Given the description of an element on the screen output the (x, y) to click on. 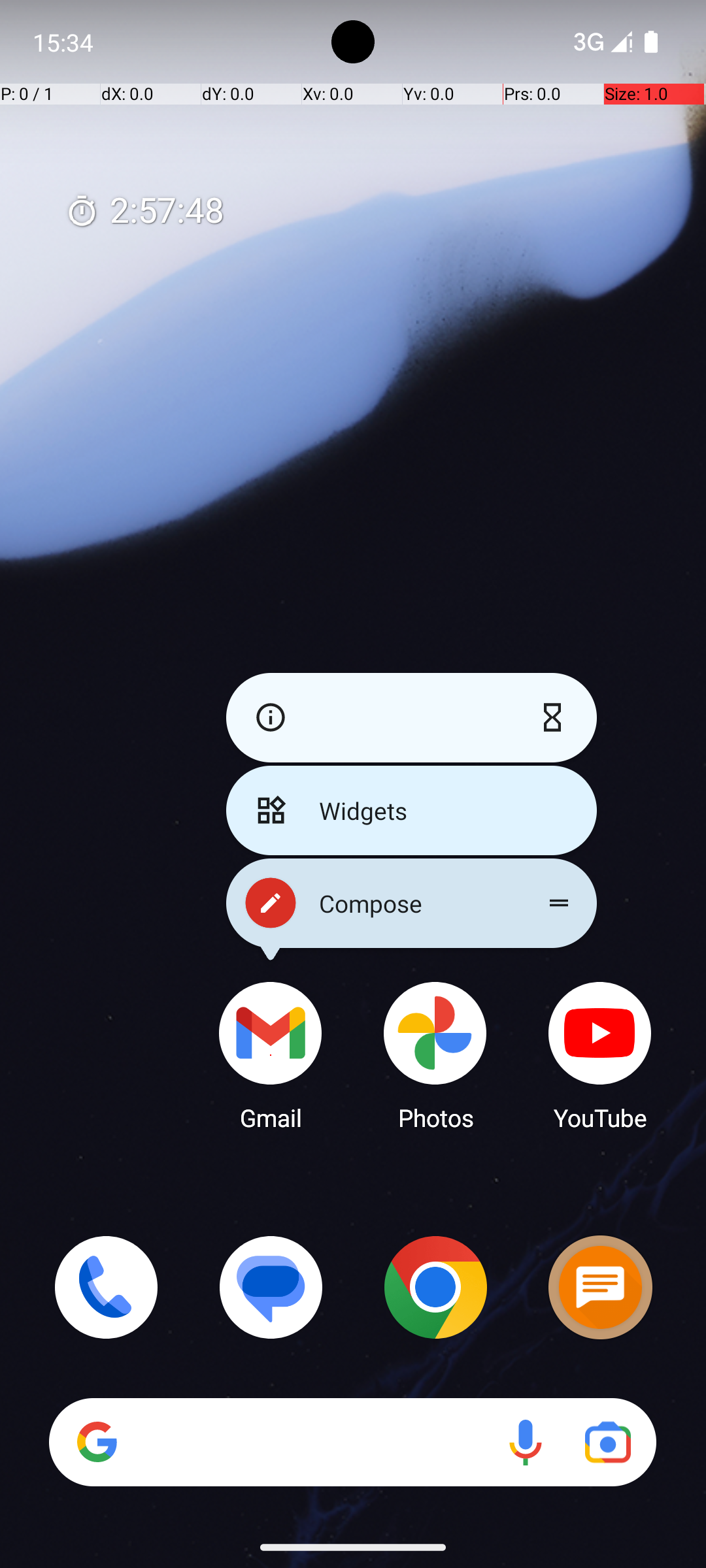
Pause app Element type: android.widget.ImageView (555, 717)
Widgets Element type: android.widget.TextView (411, 810)
